Given the description of an element on the screen output the (x, y) to click on. 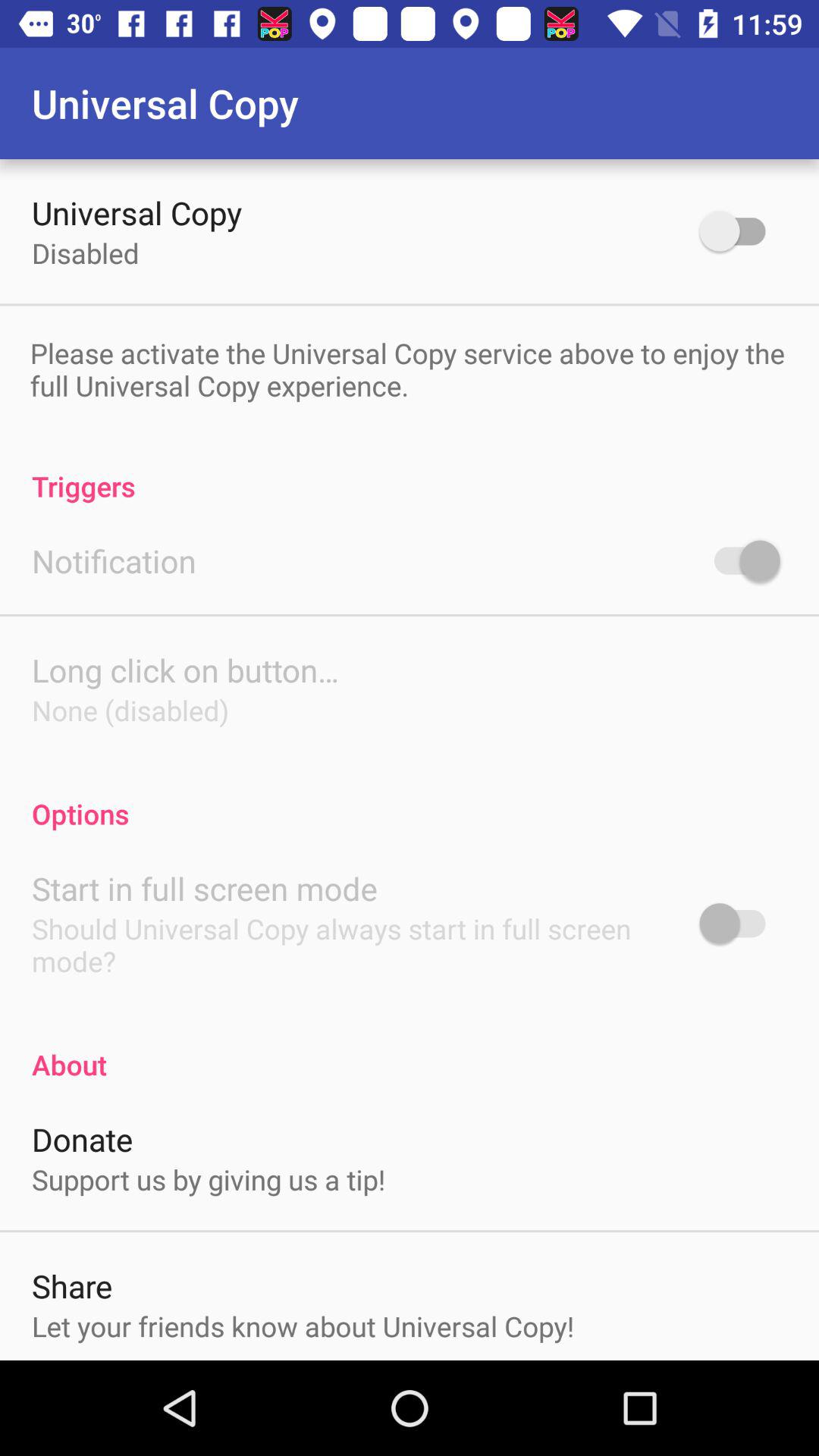
toggle universal copy option (739, 231)
